Given the description of an element on the screen output the (x, y) to click on. 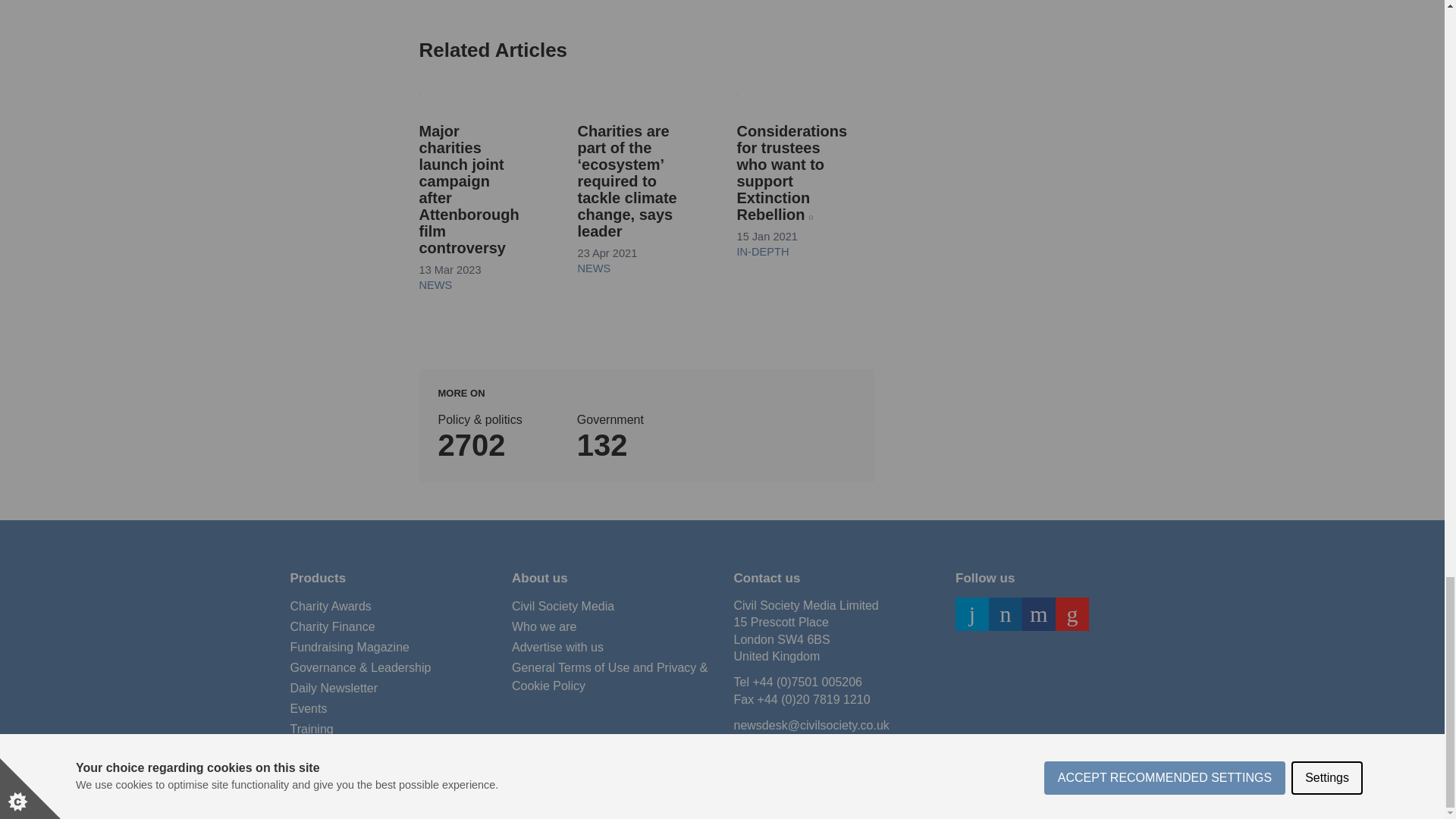
Charity Finance (331, 627)
Fundraising Magazine (349, 647)
NEWS (594, 268)
Daily Newsletter (333, 688)
Who we are (544, 627)
NEWS (435, 284)
Civil Society Media (563, 606)
Training (311, 729)
IN-DEPTH (762, 251)
Charity Awards (330, 606)
Events (307, 709)
Advertise with us (558, 647)
